Given the description of an element on the screen output the (x, y) to click on. 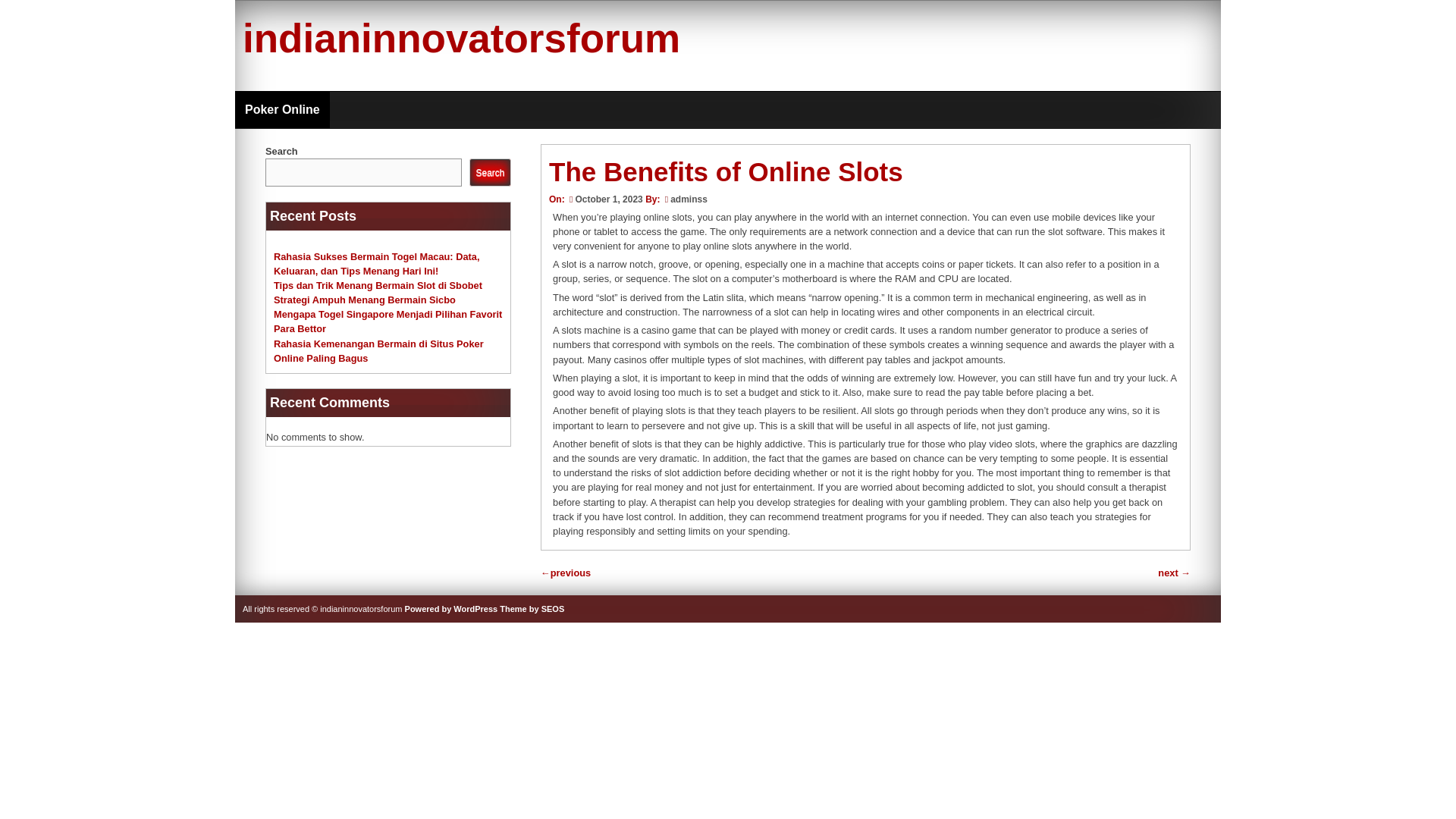
Seos free wordpress themes (531, 608)
Strategi Ampuh Menang Bermain Sicbo (364, 299)
Mengapa Togel Singapore Menjadi Pilihan Favorit Para Bettor (387, 321)
adminss (688, 199)
Search (489, 172)
Powered by WordPress (450, 608)
indianinnovatorsforum (461, 37)
Tips dan Trik Menang Bermain Slot di Sbobet (377, 285)
